Given the description of an element on the screen output the (x, y) to click on. 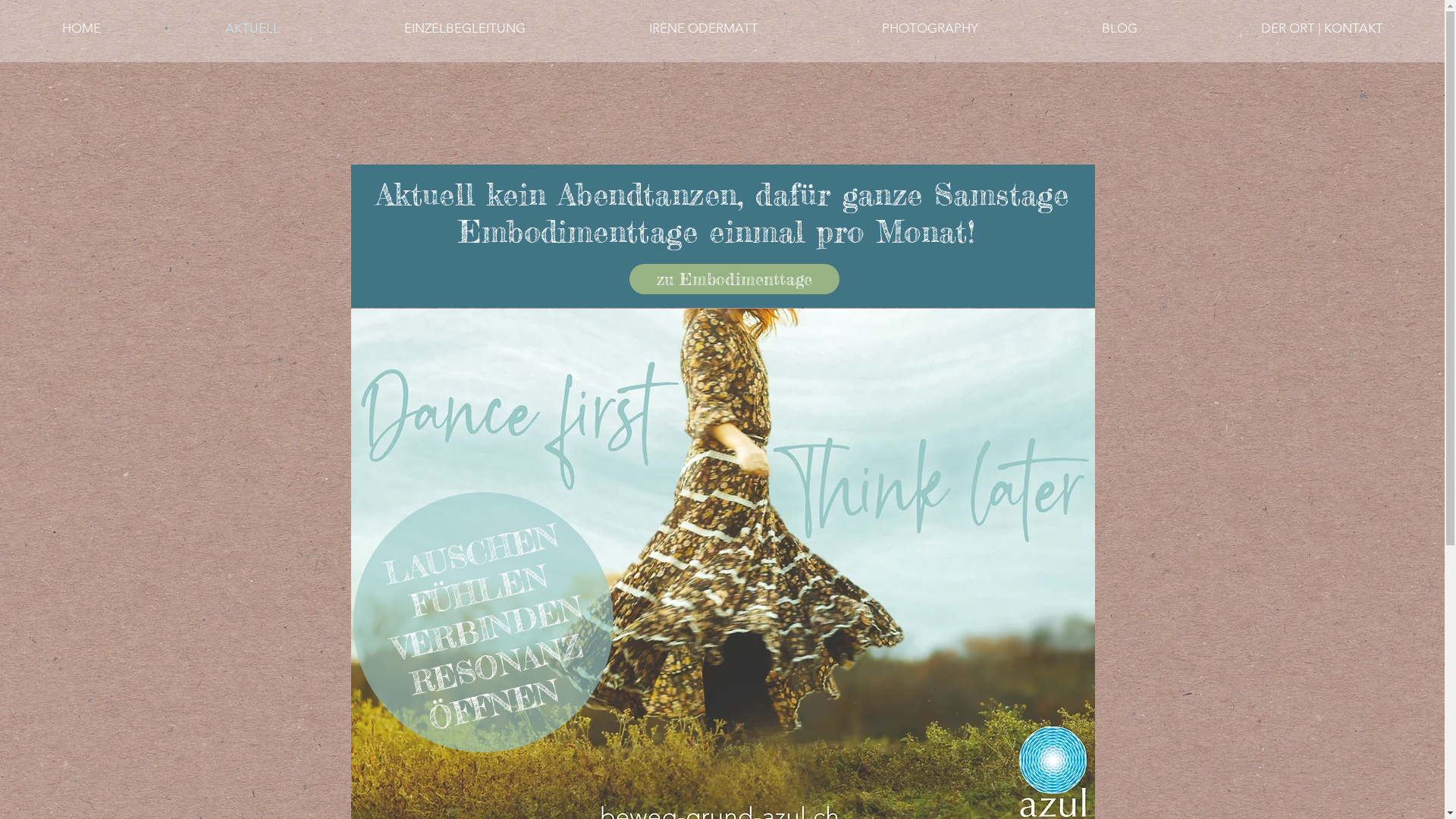
EINZELBEGLEITUNG Element type: text (464, 28)
HOME Element type: text (81, 28)
BLOG Element type: text (1118, 28)
DER ORT | KONTAKT Element type: text (1321, 28)
AKTUELL Element type: text (252, 28)
zu Embodimenttage Element type: text (734, 278)
PHOTOGRAPHY Element type: text (929, 28)
